Given the description of an element on the screen output the (x, y) to click on. 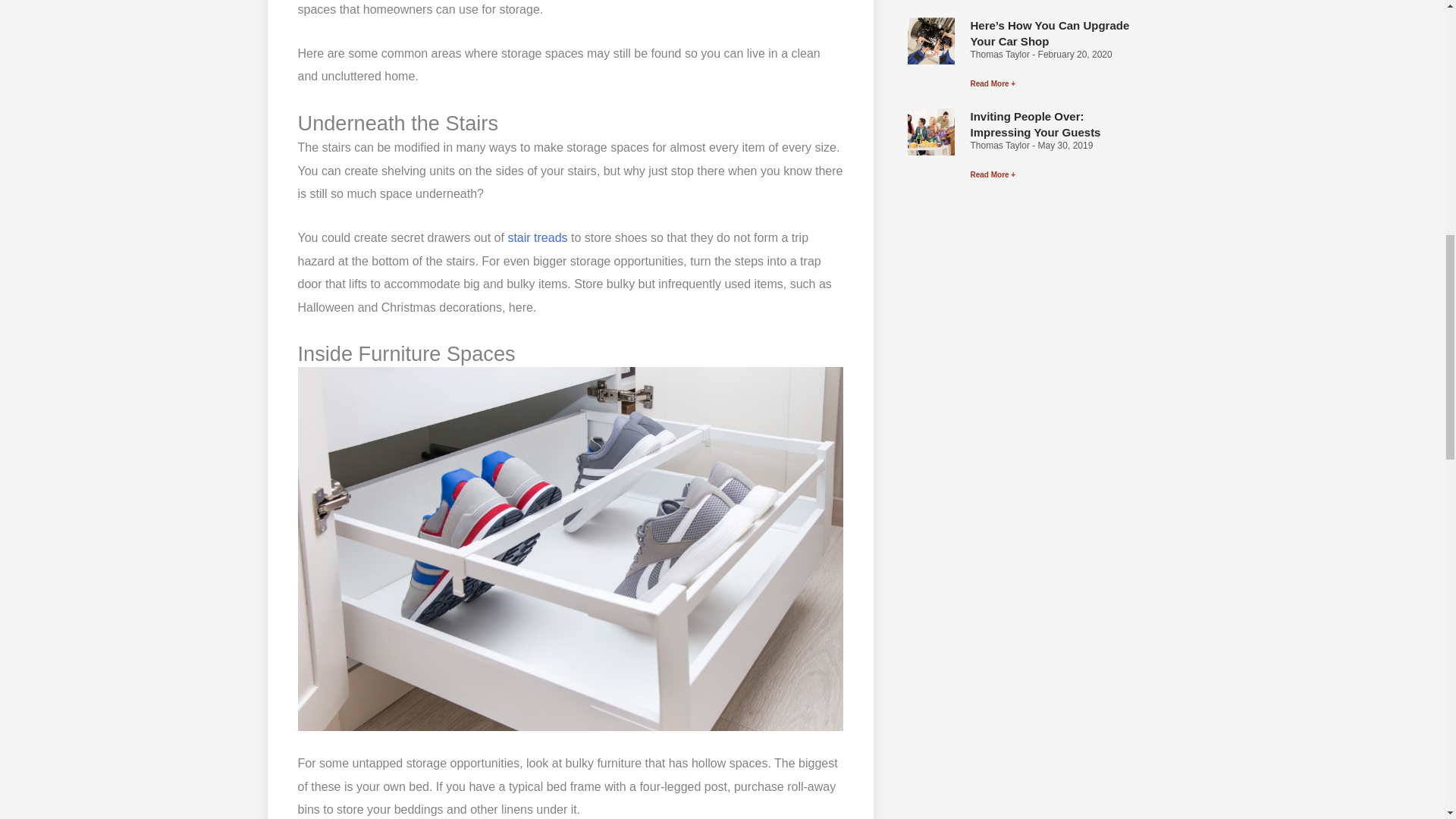
Ackworth House (536, 237)
stair treads (536, 237)
